Given the description of an element on the screen output the (x, y) to click on. 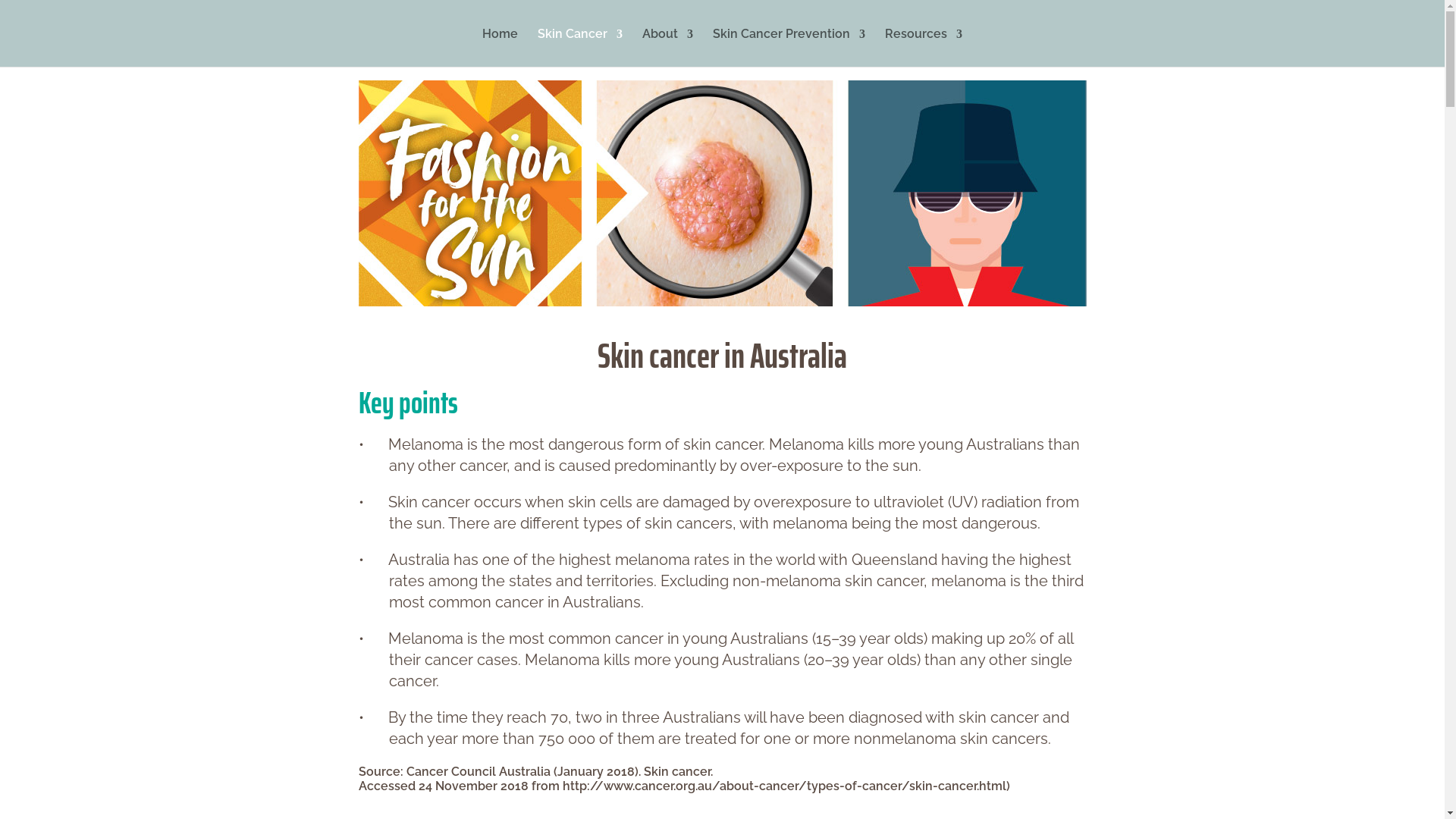
About Element type: text (667, 47)
Skin Cancer Element type: text (579, 47)
Skin Cancer Prevention Element type: text (788, 47)
Resources Element type: text (923, 47)
Home Element type: text (499, 47)
